Given the description of an element on the screen output the (x, y) to click on. 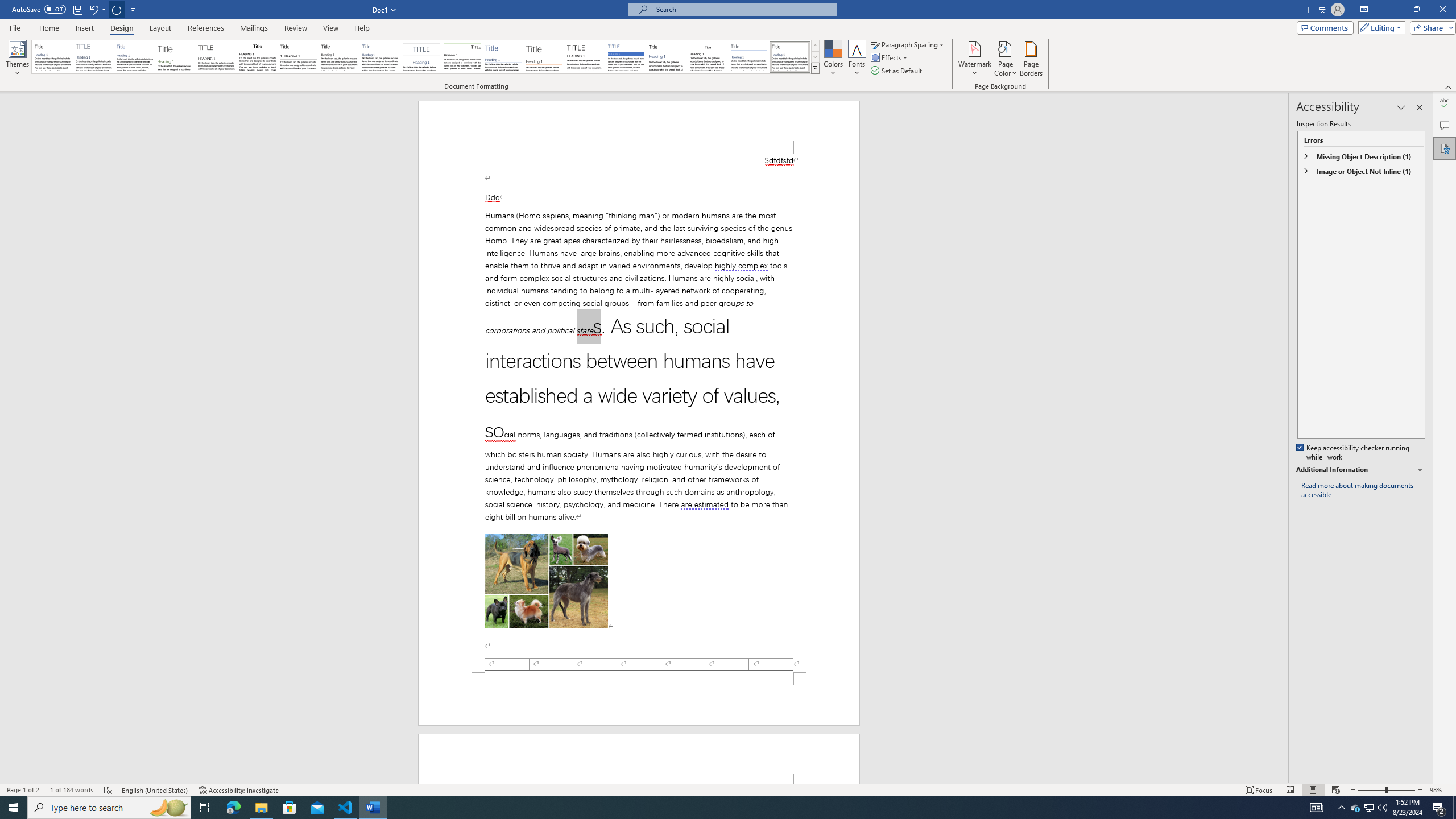
Paragraph Spacing (908, 44)
Themes (17, 58)
Basic (Simple) (135, 56)
Fonts (856, 58)
Word 2013 (790, 56)
Additional Information (1360, 469)
Watermark (974, 58)
